Given the description of an element on the screen output the (x, y) to click on. 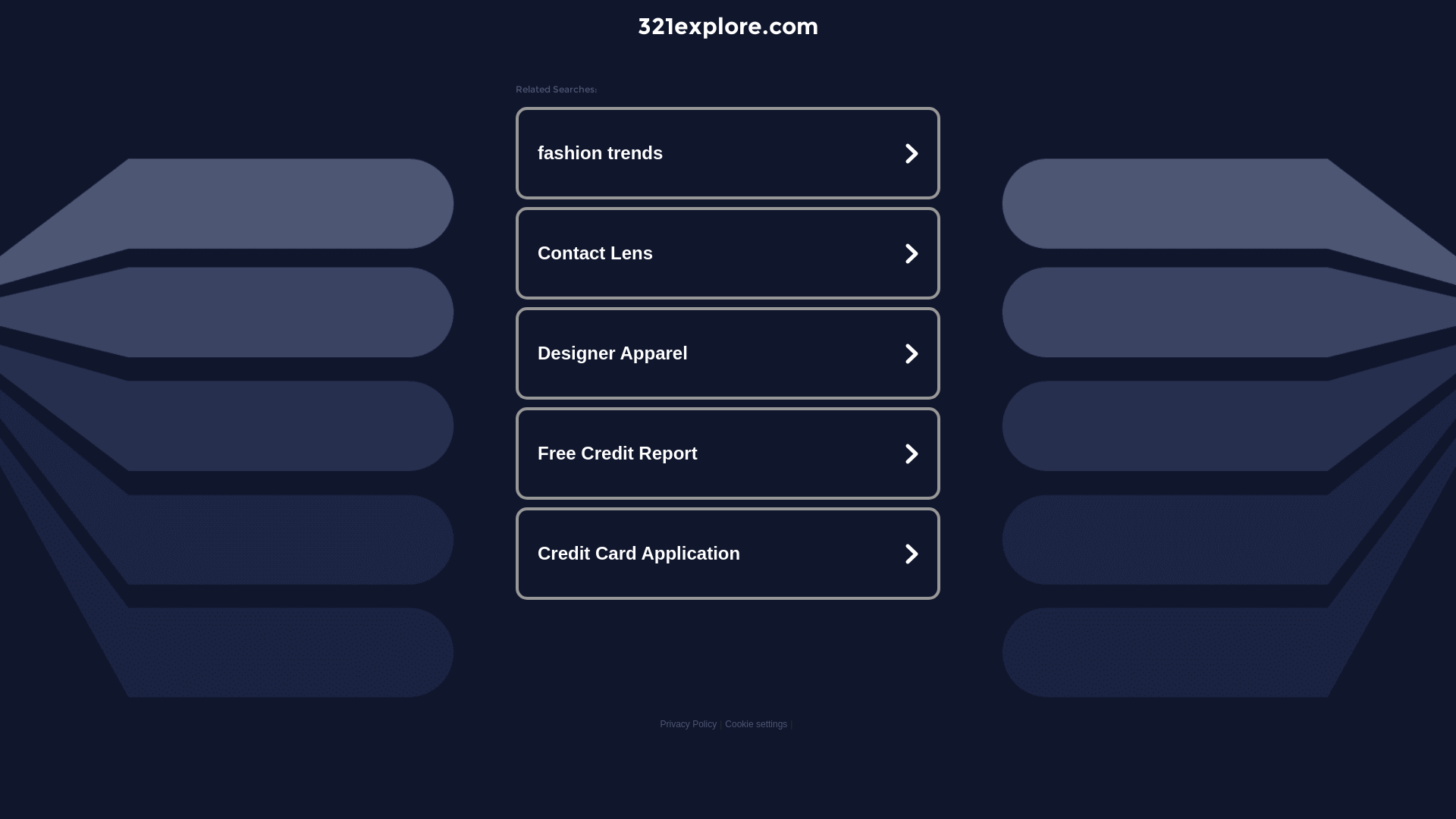
Credit Card Application Element type: text (727, 553)
Cookie settings Element type: text (755, 723)
Free Credit Report Element type: text (727, 453)
Privacy Policy Element type: text (687, 723)
Contact Lens Element type: text (727, 253)
321explore.com Element type: text (727, 26)
fashion trends Element type: text (727, 152)
Designer Apparel Element type: text (727, 353)
